Given the description of an element on the screen output the (x, y) to click on. 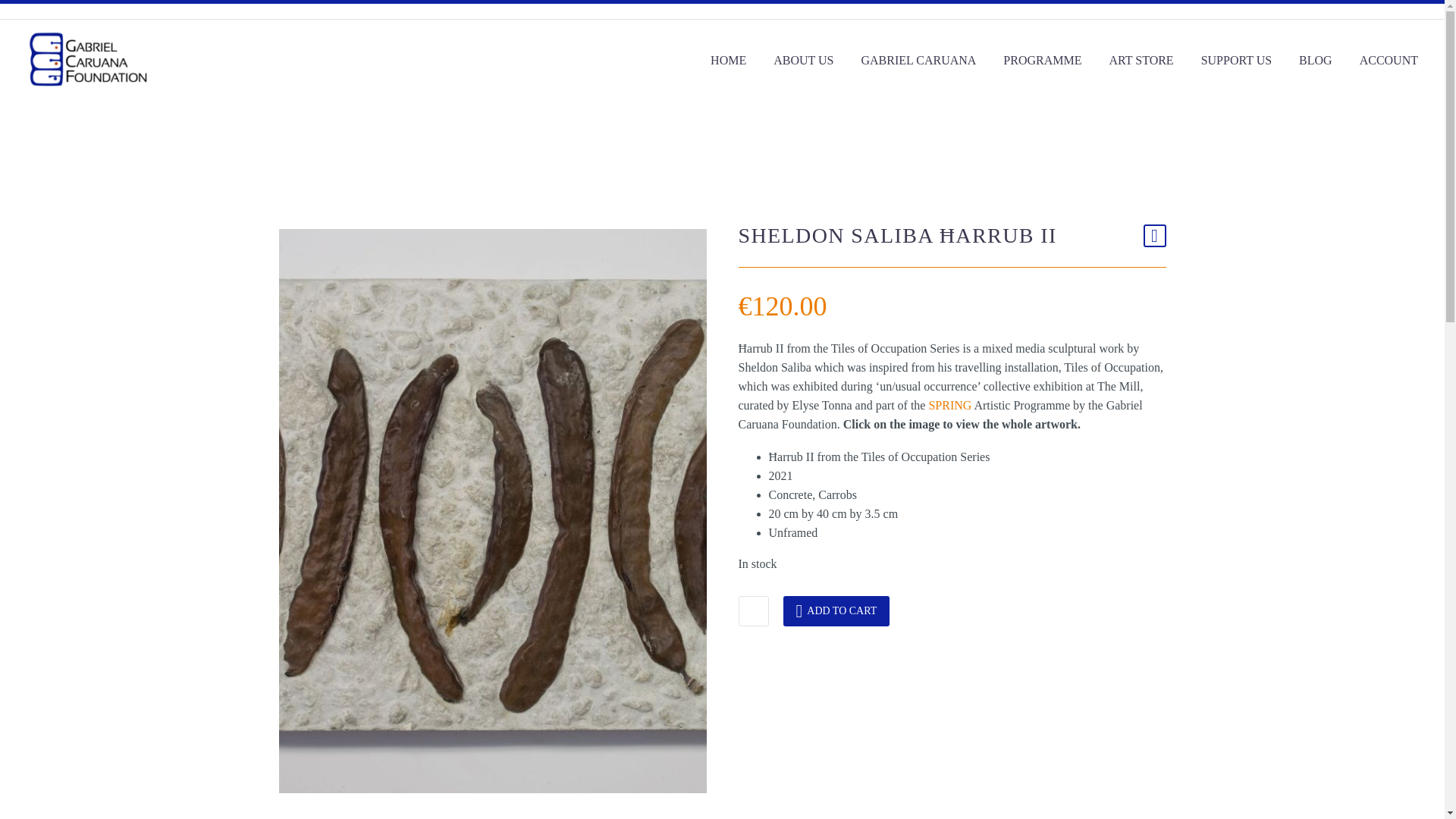
GABRIEL CARUANA (917, 58)
PROGRAMME (1042, 58)
ART STORE (1141, 58)
SUPPORT US (1235, 58)
BLOG (1315, 58)
ABOUT US (802, 58)
ACCOUNT (1388, 58)
HOME (727, 58)
